Given the description of an element on the screen output the (x, y) to click on. 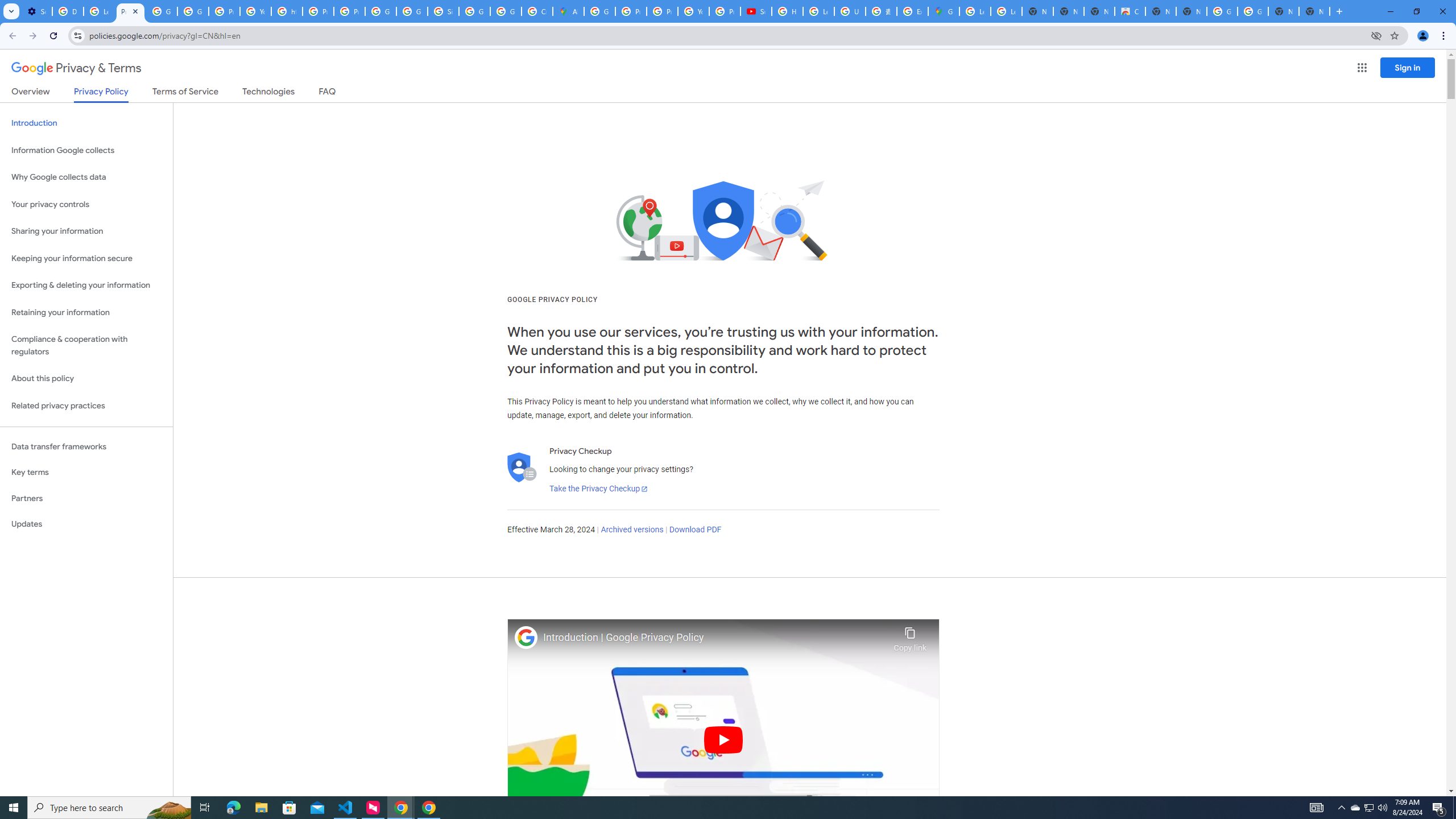
Photo image of Google (526, 636)
YouTube (693, 11)
Create your Google Account (536, 11)
Chrome Web Store (1129, 11)
Play (723, 739)
